Given the description of an element on the screen output the (x, y) to click on. 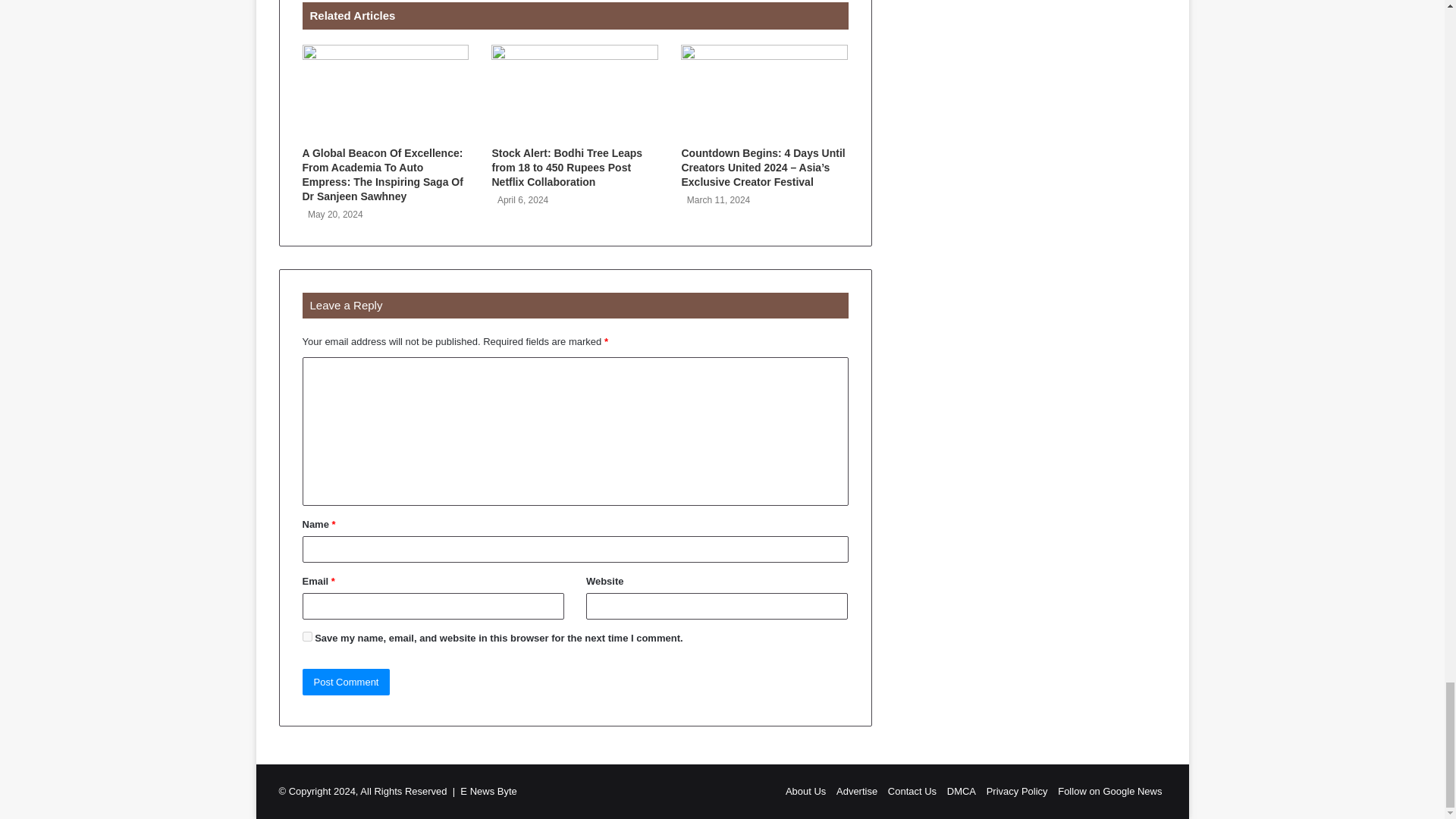
Post Comment (345, 682)
yes (306, 636)
